Given the description of an element on the screen output the (x, y) to click on. 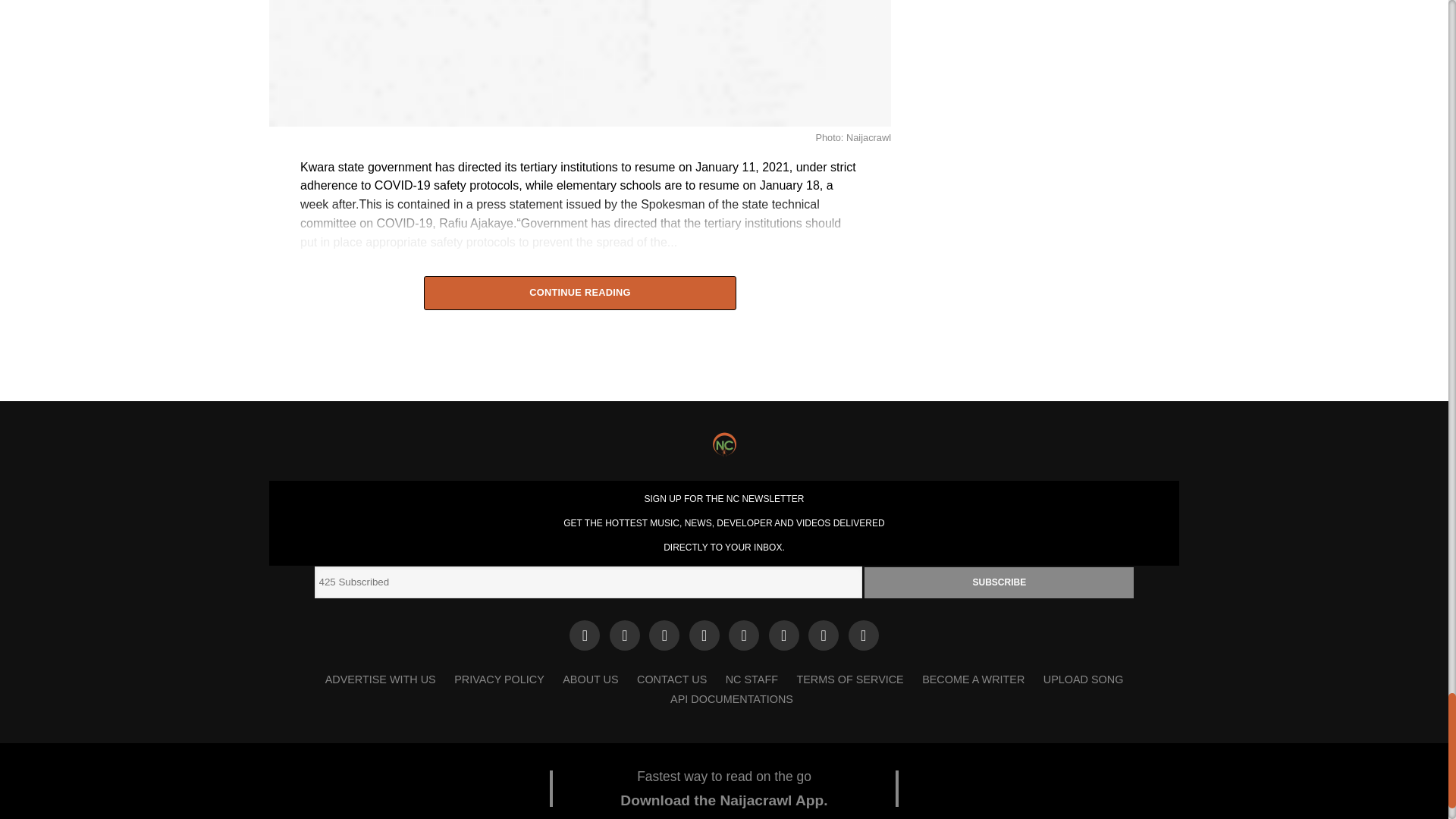
Subscribe (999, 582)
